Given the description of an element on the screen output the (x, y) to click on. 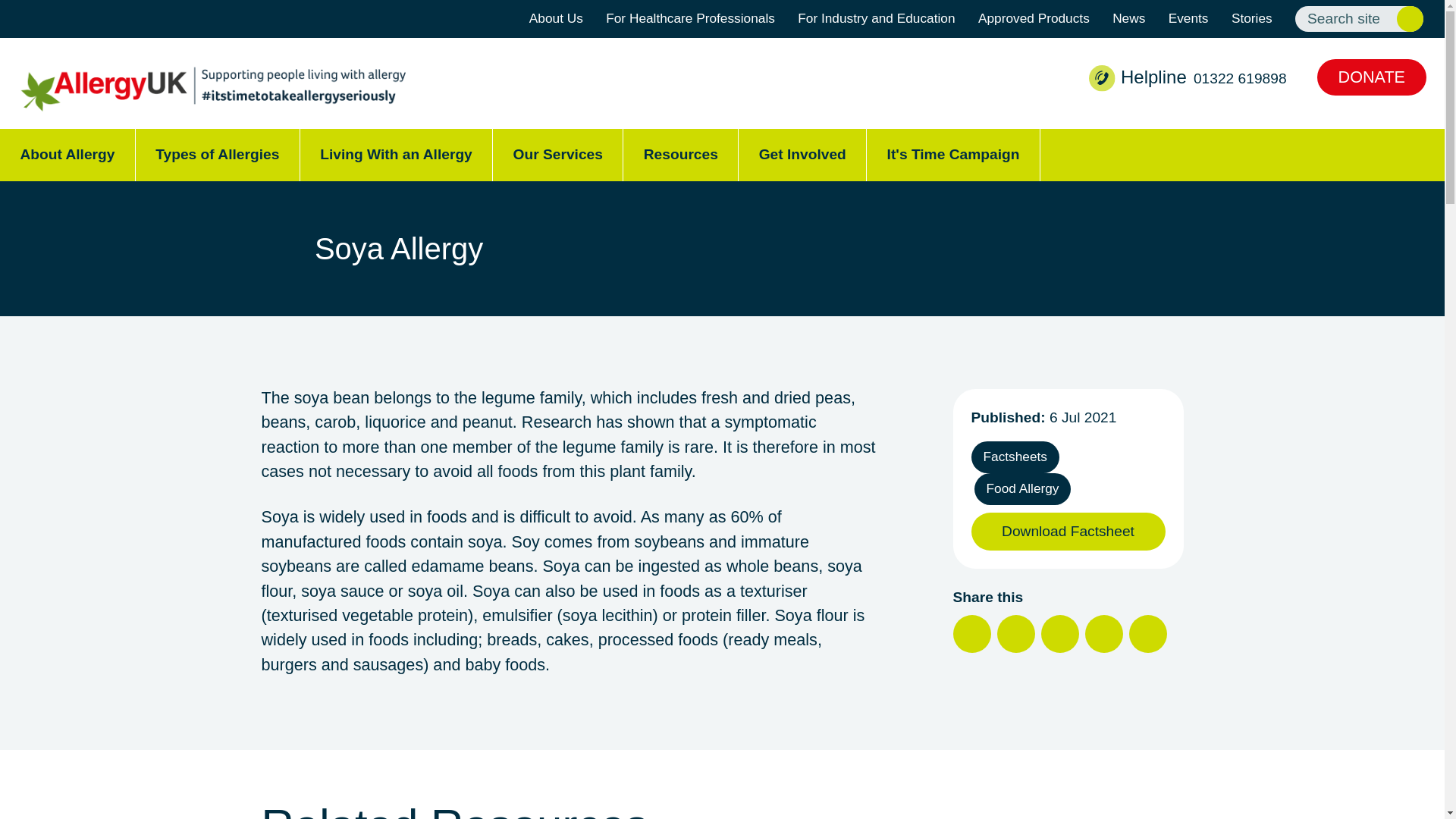
For Industry and Education (876, 19)
About Allergy (67, 154)
DONATE (1371, 76)
01322 619898 (1240, 78)
For Healthcare Professionals (689, 19)
Events (1188, 19)
About Us (556, 19)
News (1128, 19)
Stories (1251, 19)
Approved Products (1033, 19)
Types of Allergies (217, 154)
Living With an Allergy (396, 154)
Our Services (558, 154)
